Given the description of an element on the screen output the (x, y) to click on. 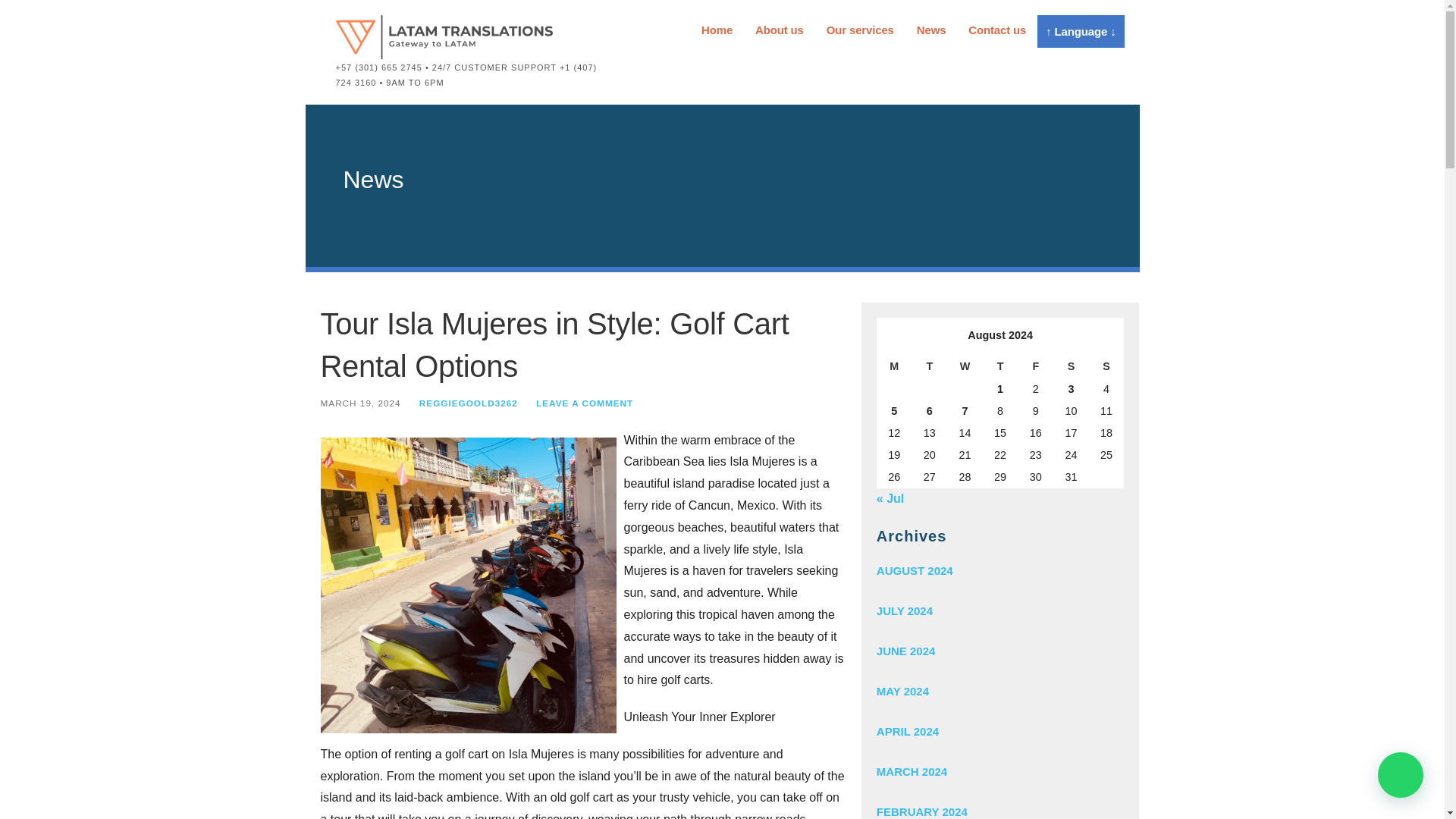
Sunday (1106, 366)
Our services (860, 30)
6 (929, 411)
News (931, 30)
1 (1000, 389)
Monday (894, 366)
Posts by reggiegoold3262 (468, 402)
JUNE 2024 (1000, 650)
APRIL 2024 (1000, 731)
FEBRUARY 2024 (1000, 805)
